Given the description of an element on the screen output the (x, y) to click on. 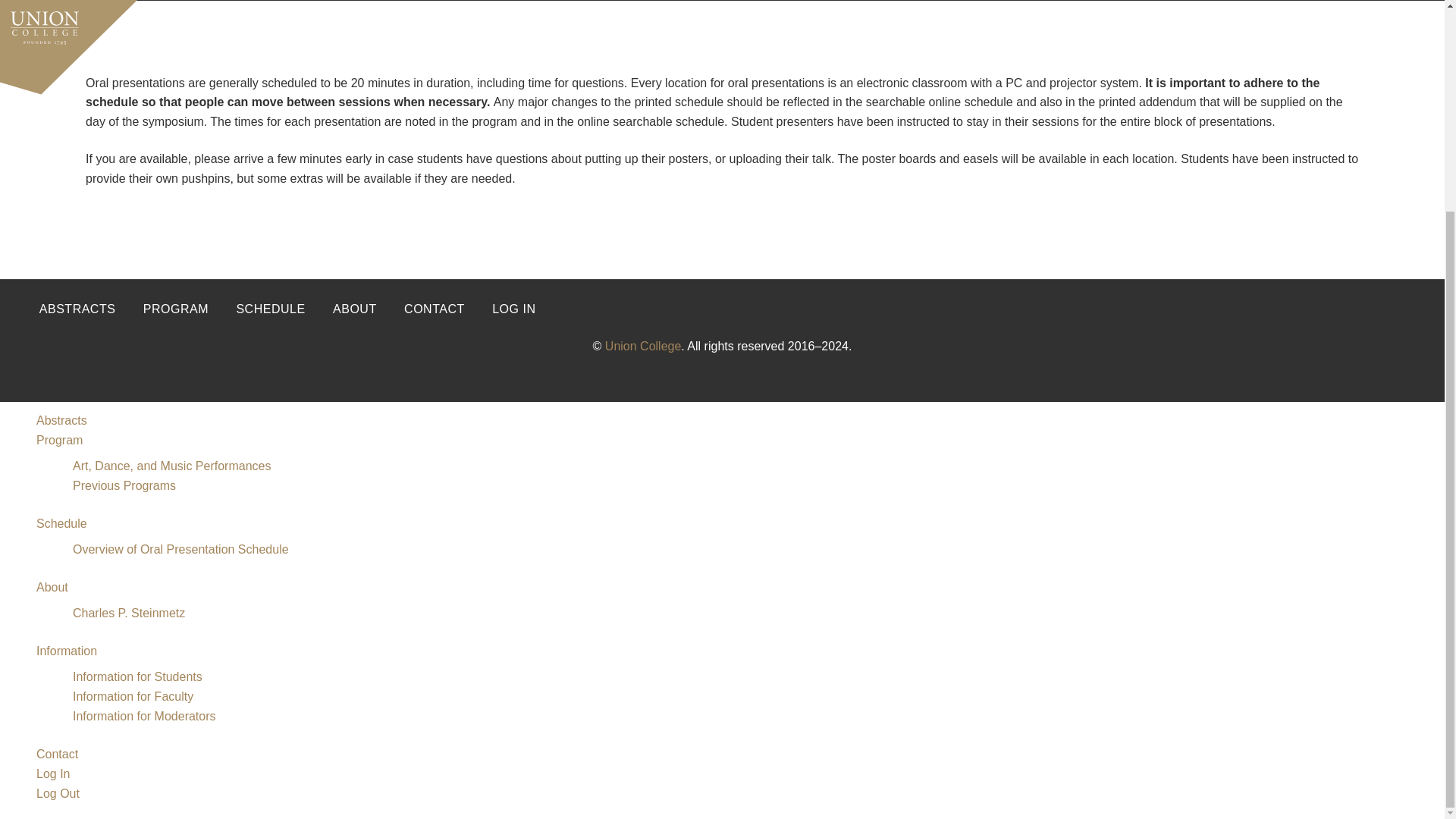
ABOUT (354, 309)
ABSTRACTS (77, 309)
About (52, 586)
Union College (643, 345)
Overview of Oral Presentation Schedule (180, 549)
Schedule (61, 522)
Charles P. Steinmetz (128, 612)
LOG IN (513, 309)
Abstracts (61, 420)
Information for Faculty (132, 696)
